Given the description of an element on the screen output the (x, y) to click on. 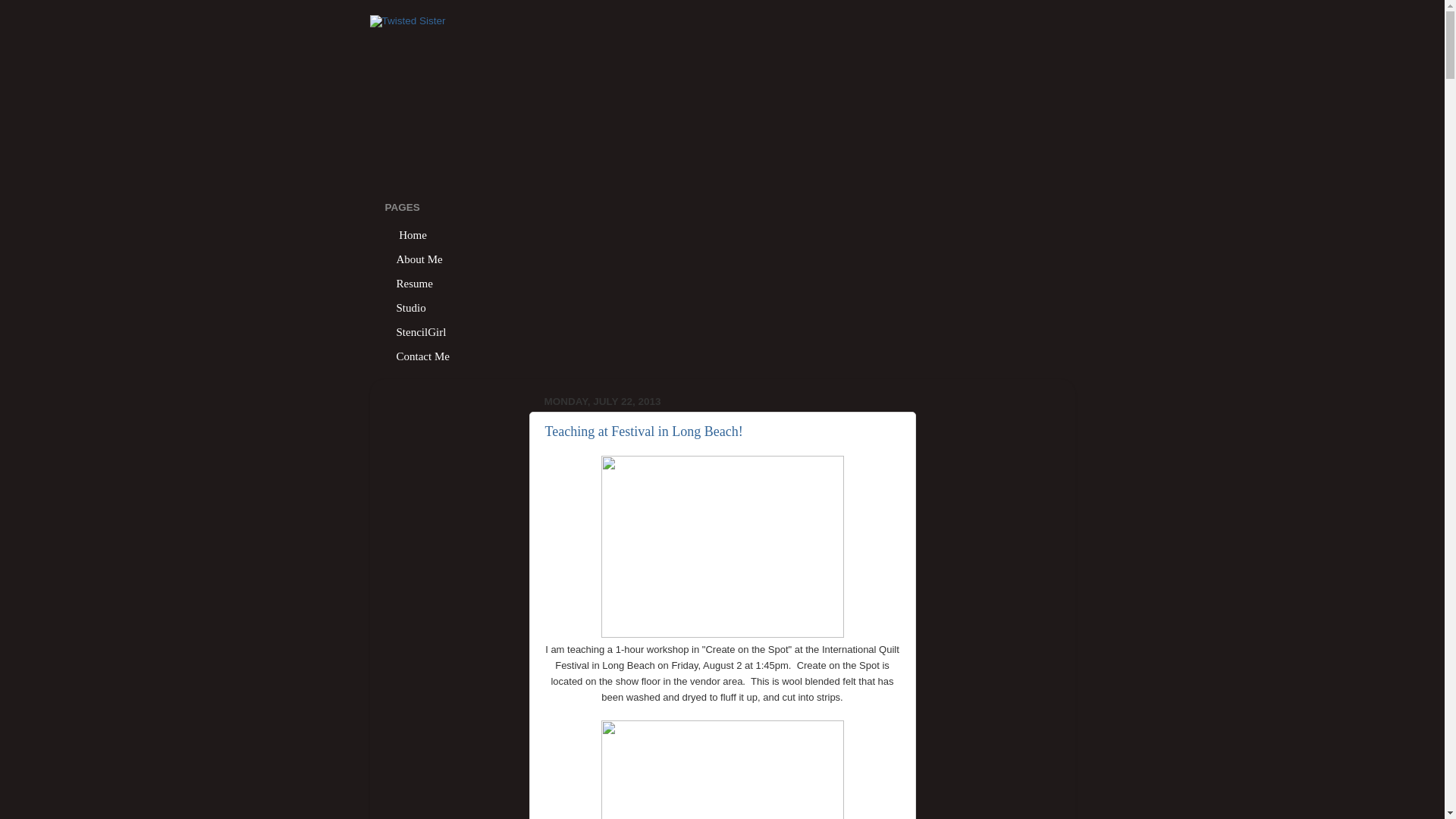
Home (412, 234)
Teaching at Festival in Long Beach! (643, 431)
Resume (415, 283)
Studio (411, 307)
Contact Me (423, 355)
StencilGirl (421, 331)
About Me (419, 259)
